Given the description of an element on the screen output the (x, y) to click on. 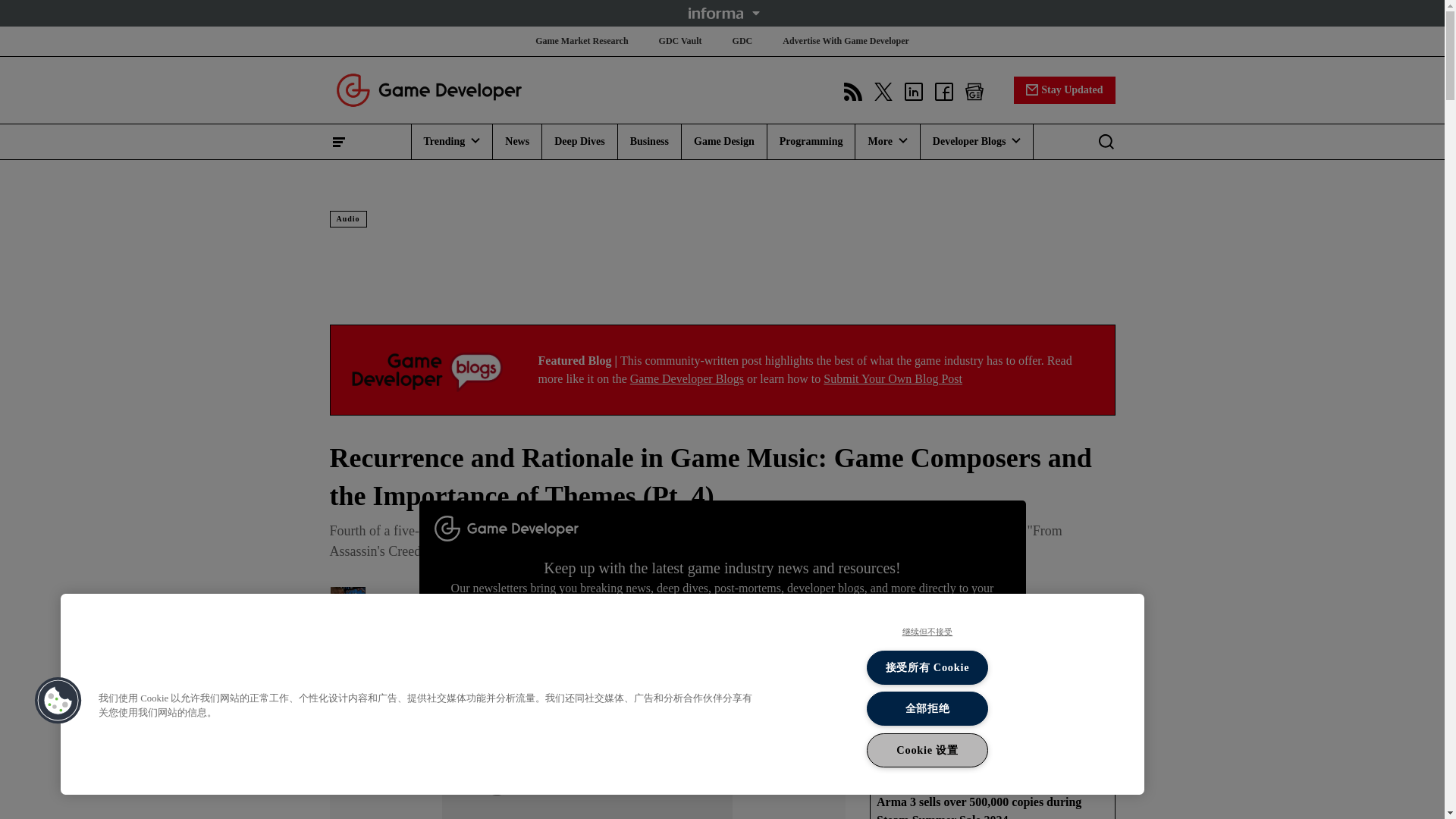
Programming (810, 141)
GDC Vault (680, 41)
Game Developer Logo (428, 90)
Stay Updated (1064, 89)
Cookies Button (57, 700)
Game Developer Logo (428, 369)
Game Design (724, 141)
Advertise With Game Developer (845, 41)
Deep Dives (579, 141)
News (517, 141)
Game Market Research (581, 41)
GDC (742, 41)
Business (649, 141)
Picture of Winifred Phillips (347, 604)
